Given the description of an element on the screen output the (x, y) to click on. 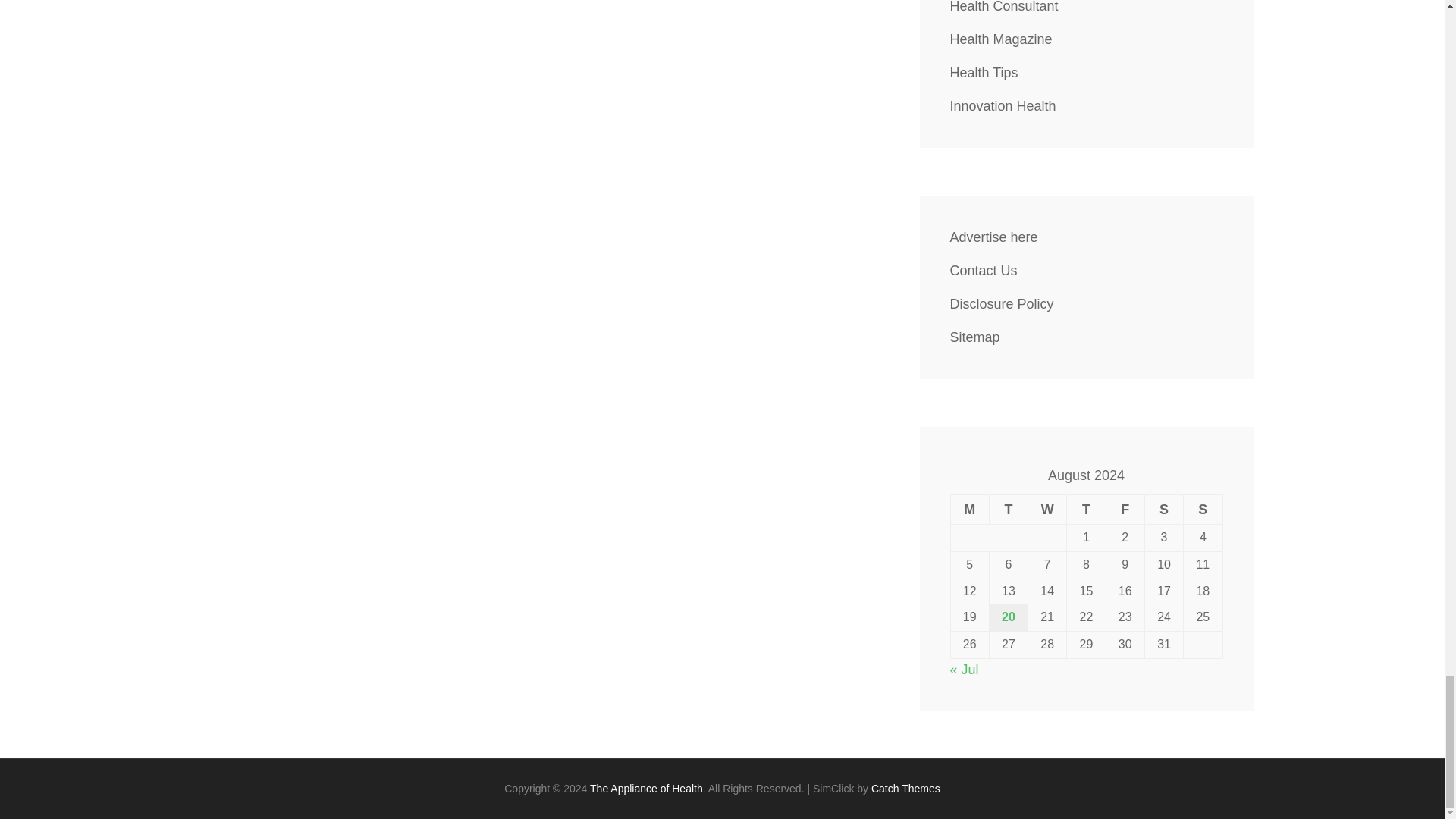
Sunday (1203, 509)
Saturday (1163, 509)
Monday (969, 509)
Wednesday (1047, 509)
Tuesday (1007, 509)
Friday (1124, 509)
Thursday (1086, 509)
